Given the description of an element on the screen output the (x, y) to click on. 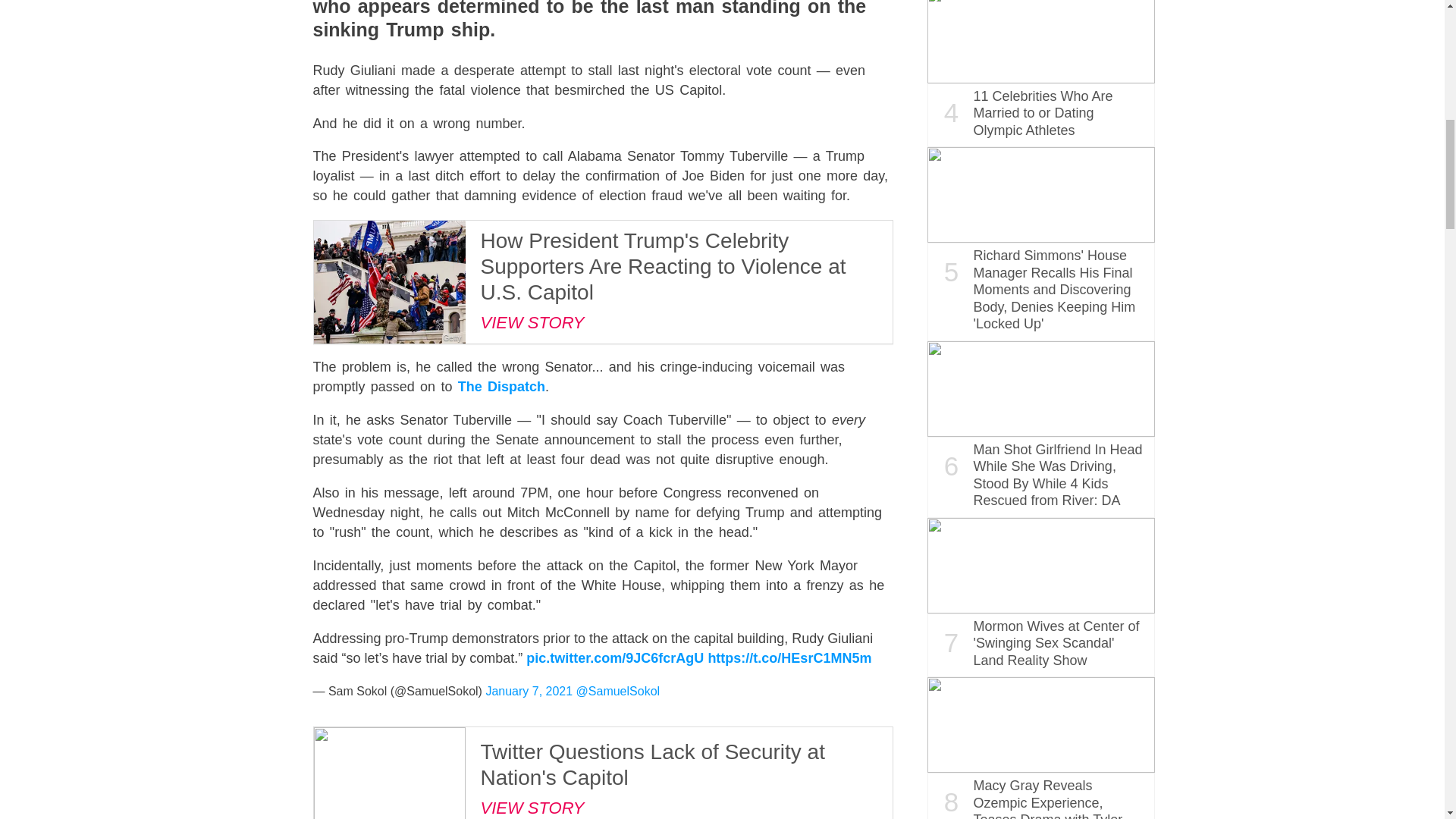
The Dispatch (501, 386)
January 7, 2021 (528, 690)
